Given the description of an element on the screen output the (x, y) to click on. 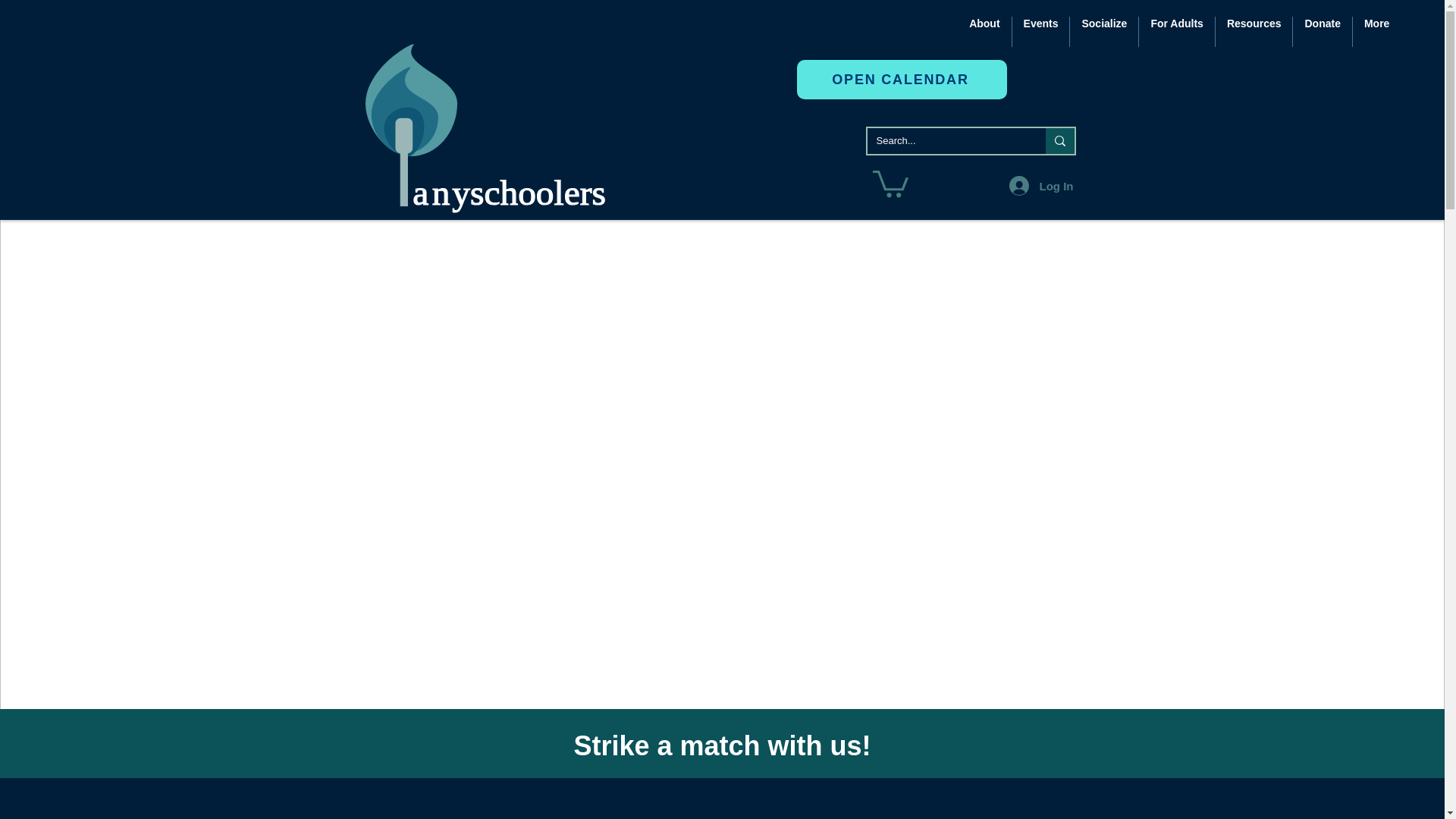
OPEN CALENDAR (901, 79)
Log In (1040, 185)
anyschoolers (496, 128)
anyschoolers (496, 128)
